Given the description of an element on the screen output the (x, y) to click on. 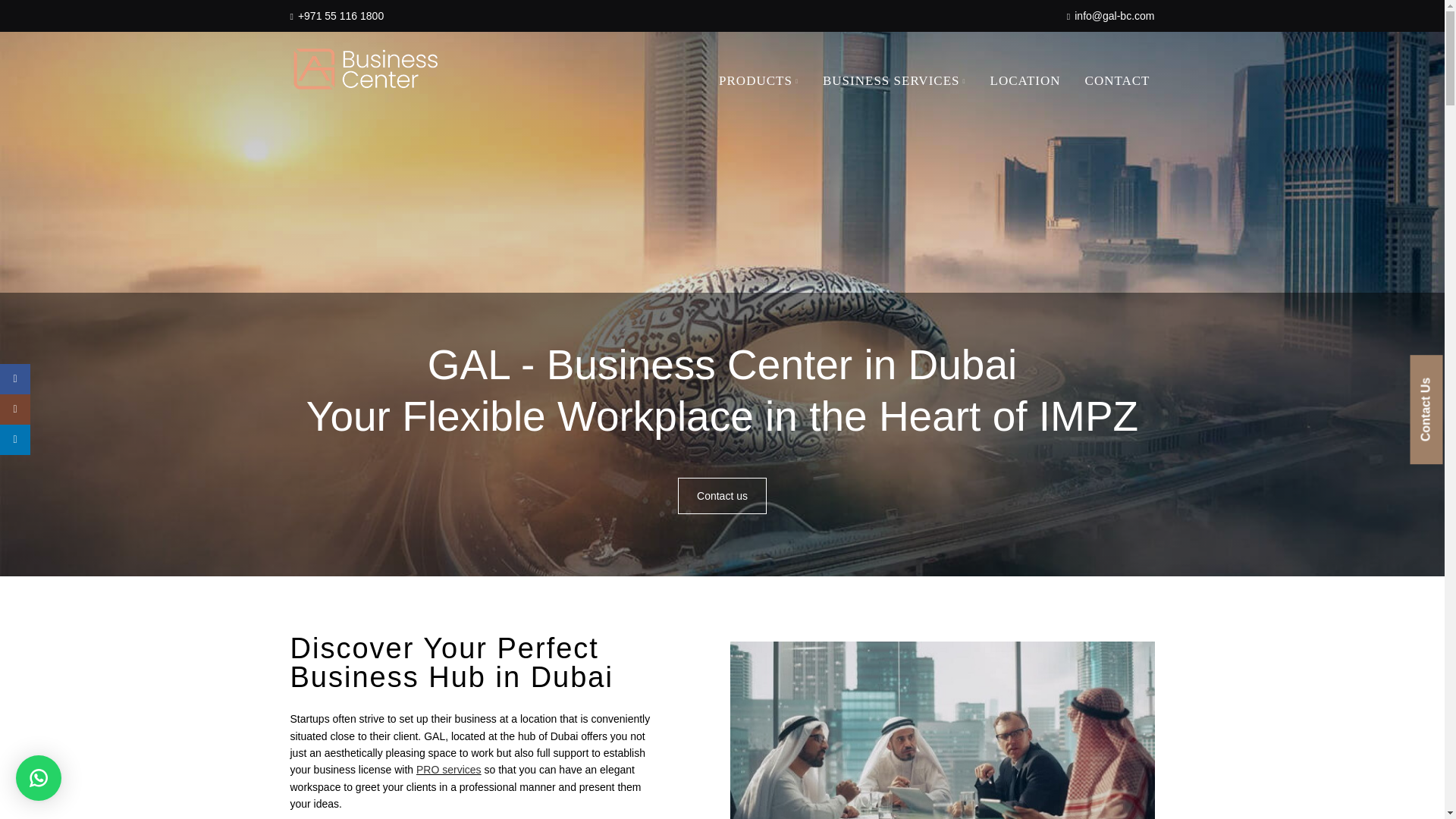
PRODUCTS (758, 81)
Contact us (722, 495)
PRO services (448, 769)
CONTACT (1117, 81)
BUSINESS SERVICES (894, 81)
LOCATION (1025, 81)
